Given the description of an element on the screen output the (x, y) to click on. 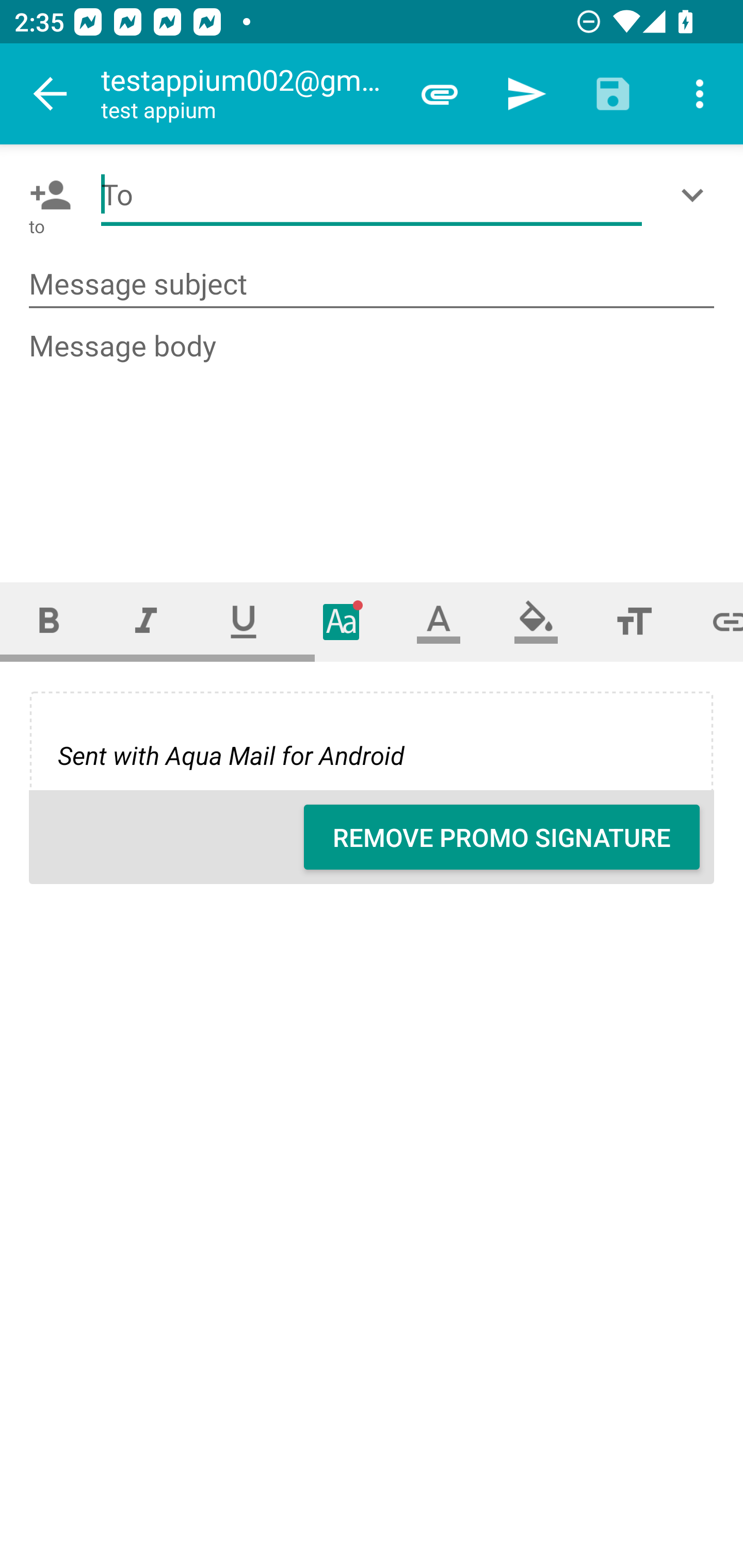
Navigate up (50, 93)
testappium002@gmail.com test appium (248, 93)
Attach (439, 93)
Send (525, 93)
Save (612, 93)
More options (699, 93)
Pick contact: To (46, 195)
Show/Add CC/BCC (696, 195)
To (371, 195)
Message subject (371, 284)
Message body (372, 438)
Bold (48, 621)
Italic (145, 621)
Underline (243, 621)
Typeface (font) (341, 621)
Text color (438, 621)
Fill color (536, 621)
Font size (633, 621)
REMOVE PROMO SIGNATURE (501, 837)
